Given the description of an element on the screen output the (x, y) to click on. 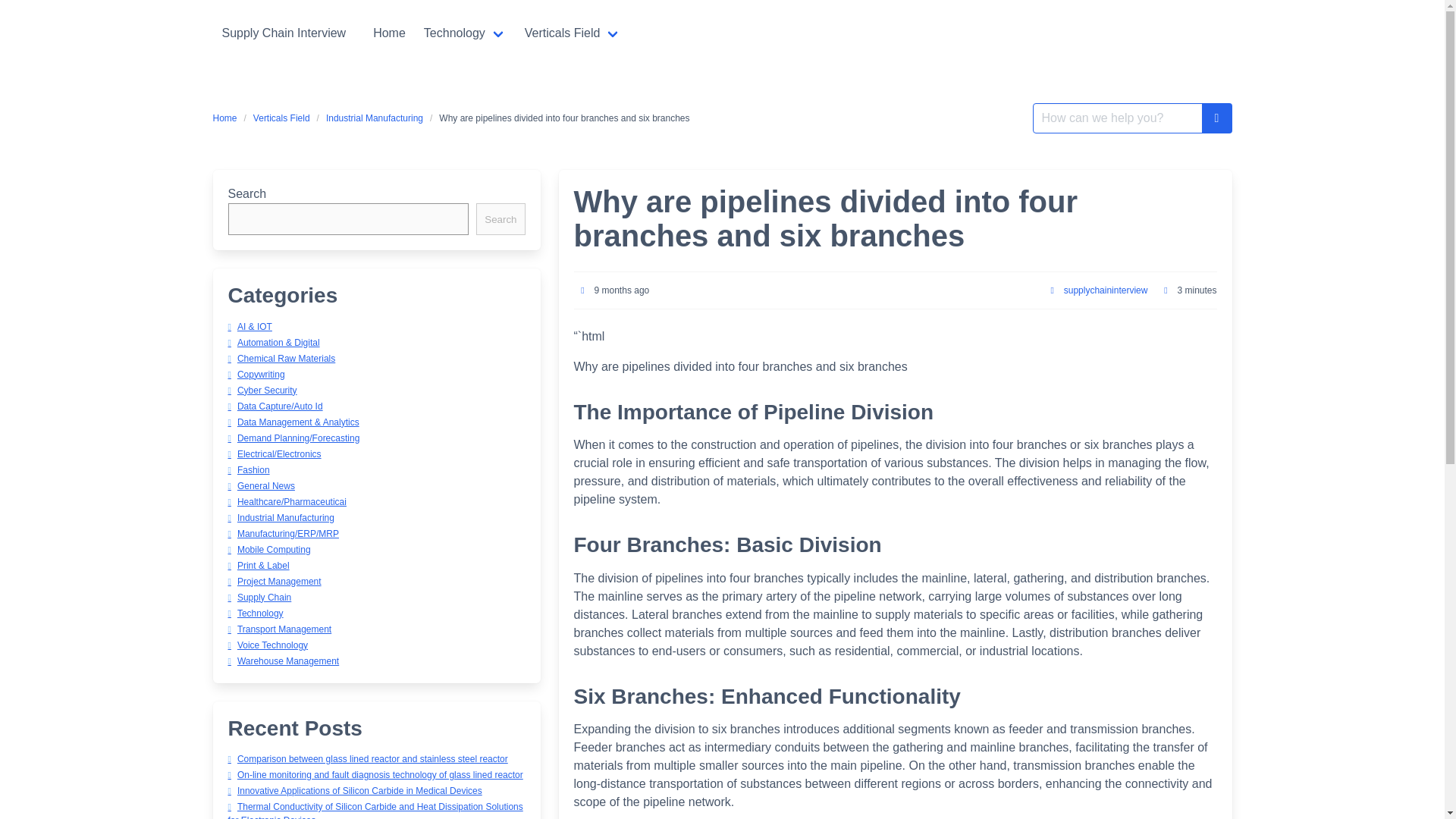
Supply Chain Interview (283, 33)
Home (389, 33)
Search (500, 219)
Supply Chain Interview (283, 33)
Home (227, 118)
Home (389, 33)
Technology (464, 33)
Verticals Field (281, 118)
Technology (464, 33)
